Given the description of an element on the screen output the (x, y) to click on. 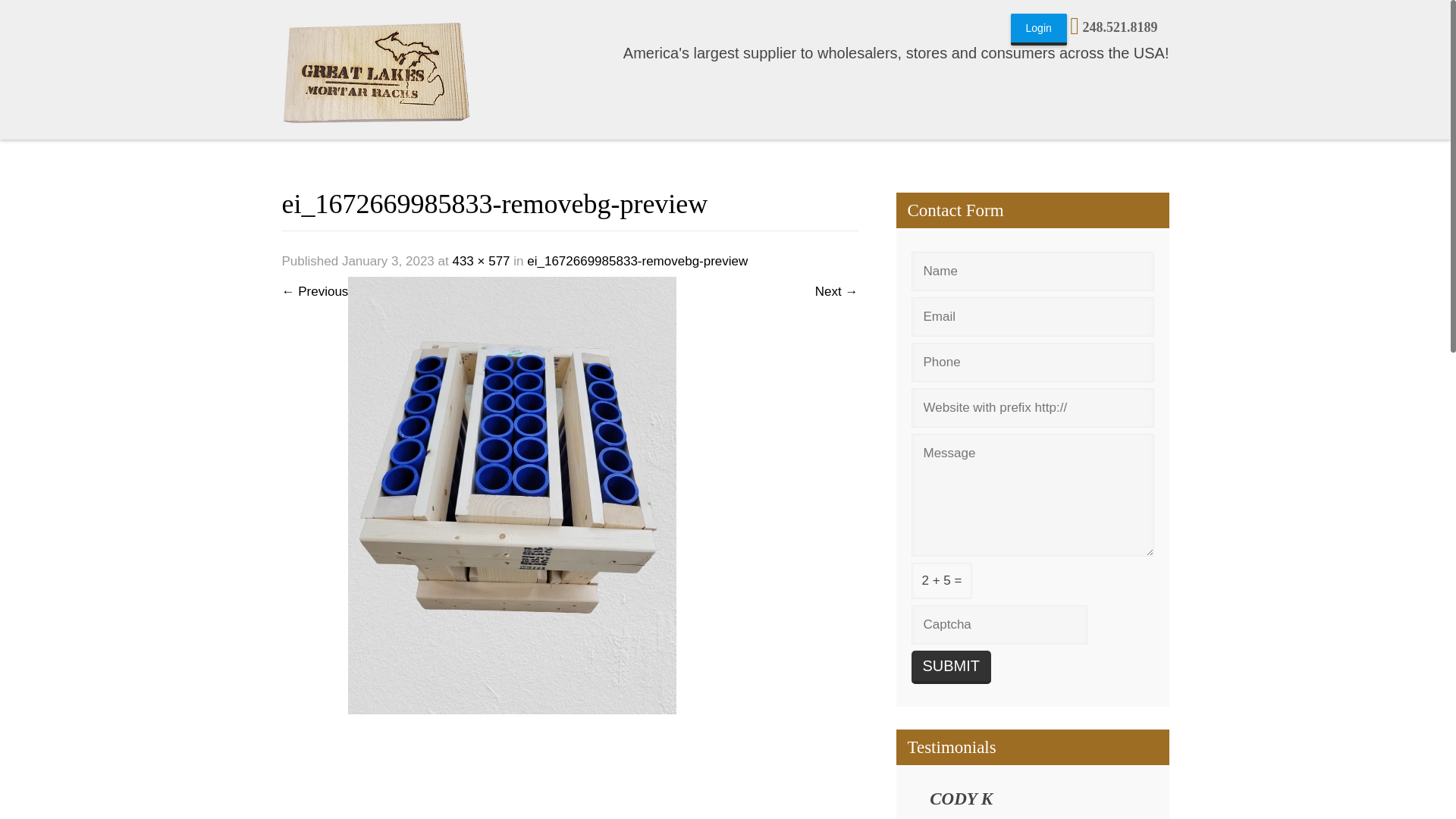
Login (1038, 29)
Submit (951, 666)
CODY K (961, 802)
Submit (951, 666)
Submit (951, 666)
